Given the description of an element on the screen output the (x, y) to click on. 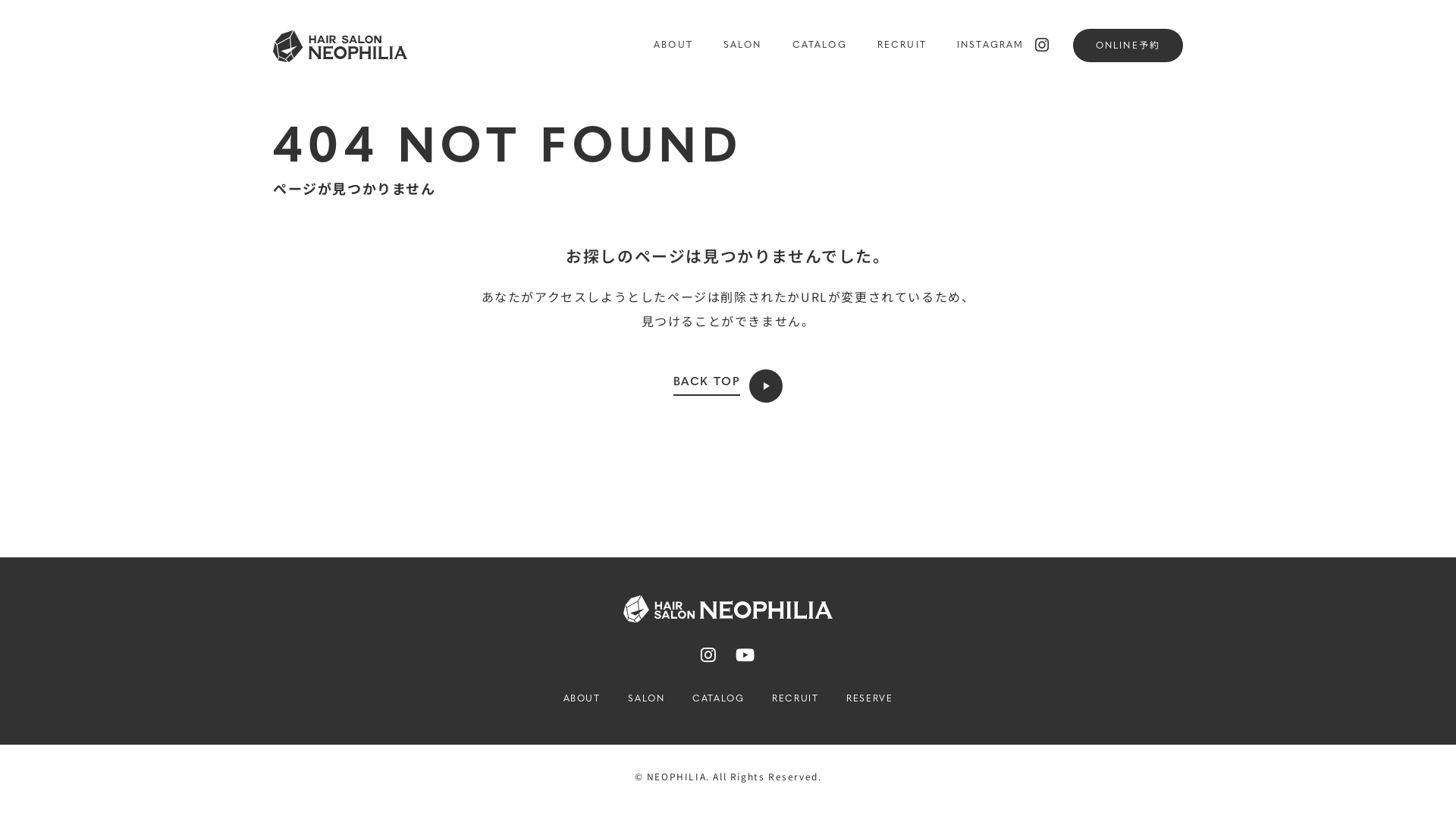
RECRUIT Element type: text (794, 698)
CATALOG Element type: text (819, 45)
INSTAGRAM Element type: text (999, 45)
SALON Element type: text (645, 698)
ABOUT Element type: text (673, 45)
SALON Element type: text (742, 45)
RESERVE Element type: text (869, 698)
BACK TOP Element type: text (728, 385)
RECRUIT Element type: text (901, 45)
CATALOG Element type: text (717, 698)
ABOUT Element type: text (581, 698)
